Given the description of an element on the screen output the (x, y) to click on. 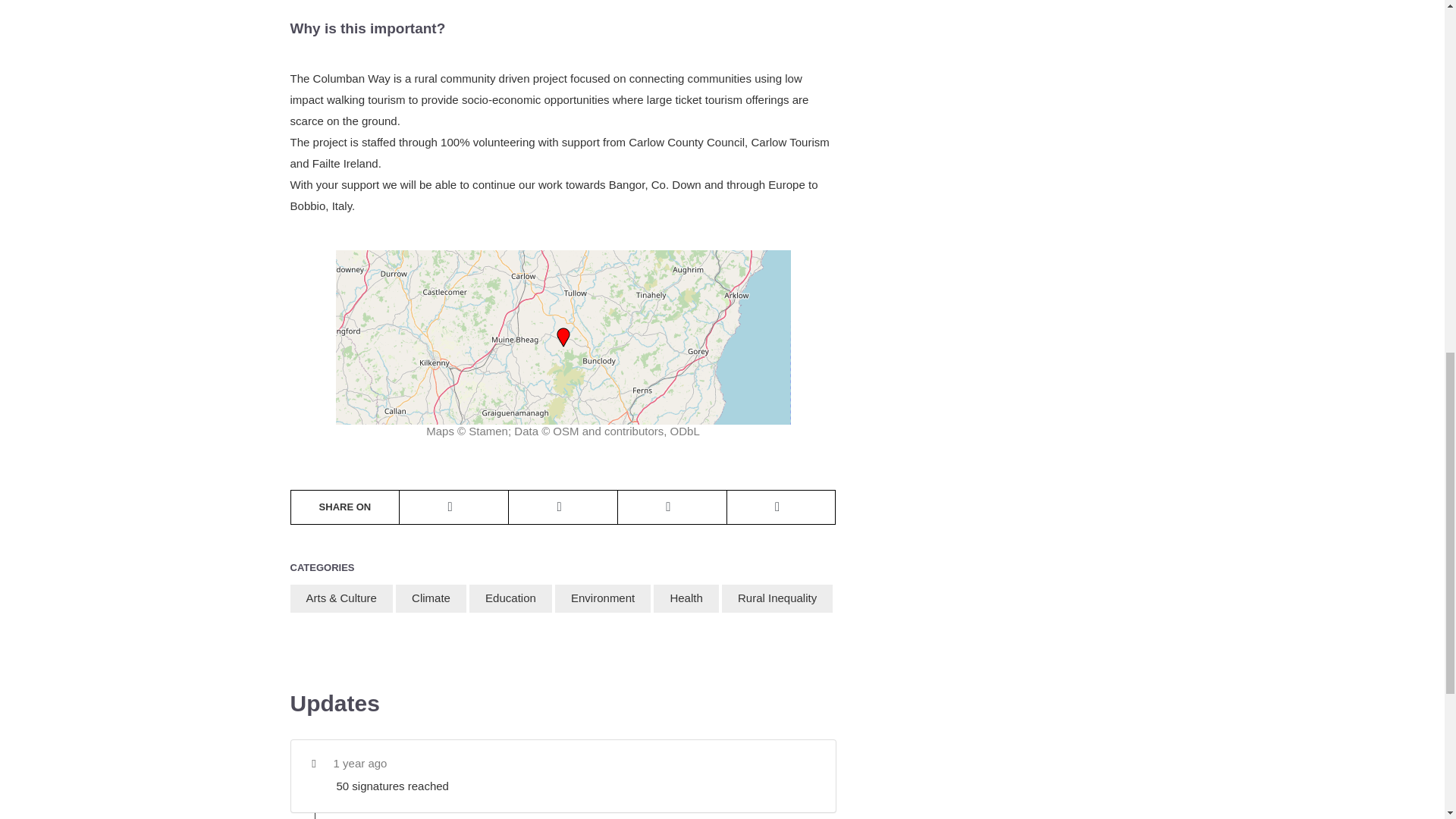
Rural Inequality (777, 598)
Share on Twitter (562, 506)
Environment (602, 598)
Education (509, 598)
Climate (430, 598)
Share on WhatsApp (453, 506)
Share via Email (780, 506)
Share on Facebook (671, 506)
Health (685, 598)
